Given the description of an element on the screen output the (x, y) to click on. 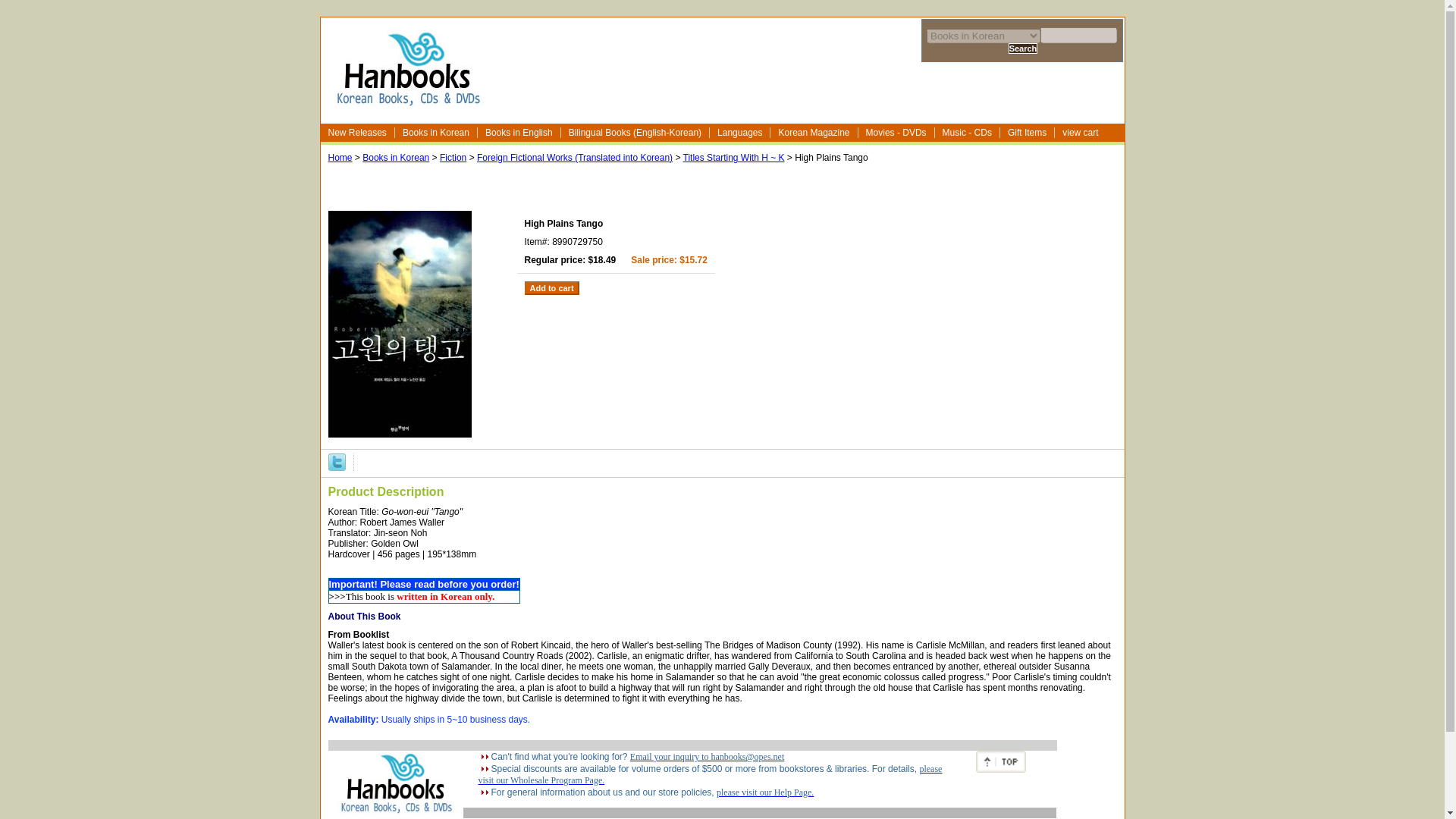
Books in English (518, 132)
Search (1023, 48)
Languages (740, 132)
Books in Korean (395, 157)
Search (1023, 48)
please visit our Wholesale Program Page. (709, 774)
Movies - DVDs (896, 132)
Books in English (518, 132)
Gift Items (1027, 132)
New Releases (357, 132)
